Given the description of an element on the screen output the (x, y) to click on. 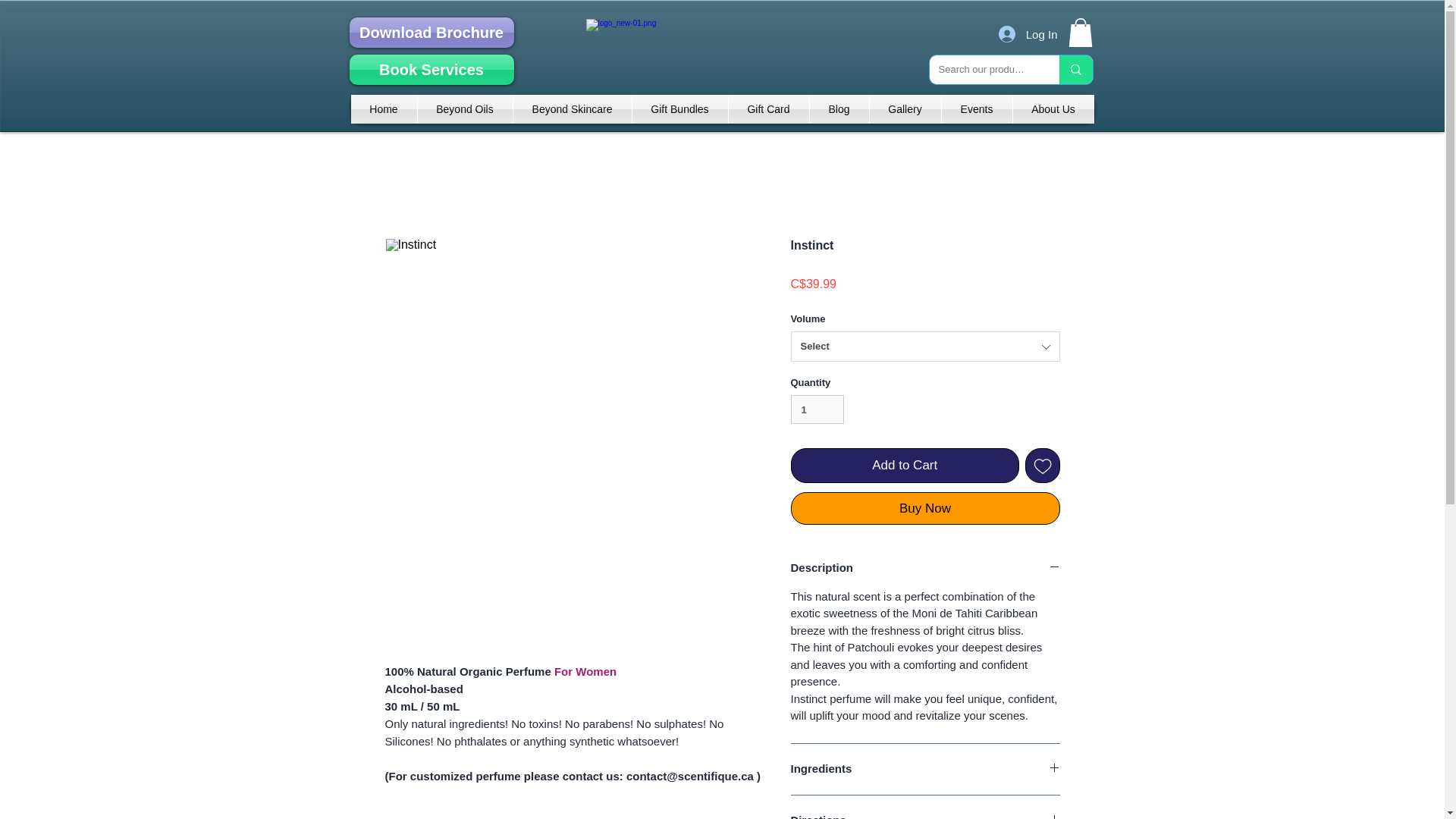
Blog (839, 109)
Gift Card (768, 109)
About Us (1053, 109)
Beyond Skincare (571, 109)
Book Services (431, 69)
Buy Now (924, 508)
Download Brochure (431, 32)
Events (976, 109)
Log In (1028, 33)
Gallery (904, 109)
Beyond Oils (464, 109)
Home (383, 109)
Description (924, 568)
1 (817, 409)
Gift Bundles (679, 109)
